Given the description of an element on the screen output the (x, y) to click on. 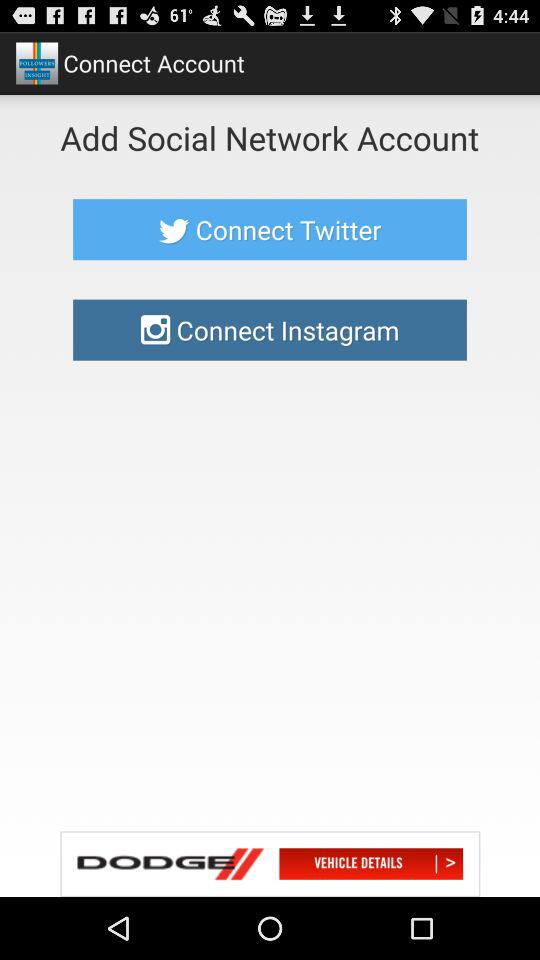
open advertisement (270, 864)
